Given the description of an element on the screen output the (x, y) to click on. 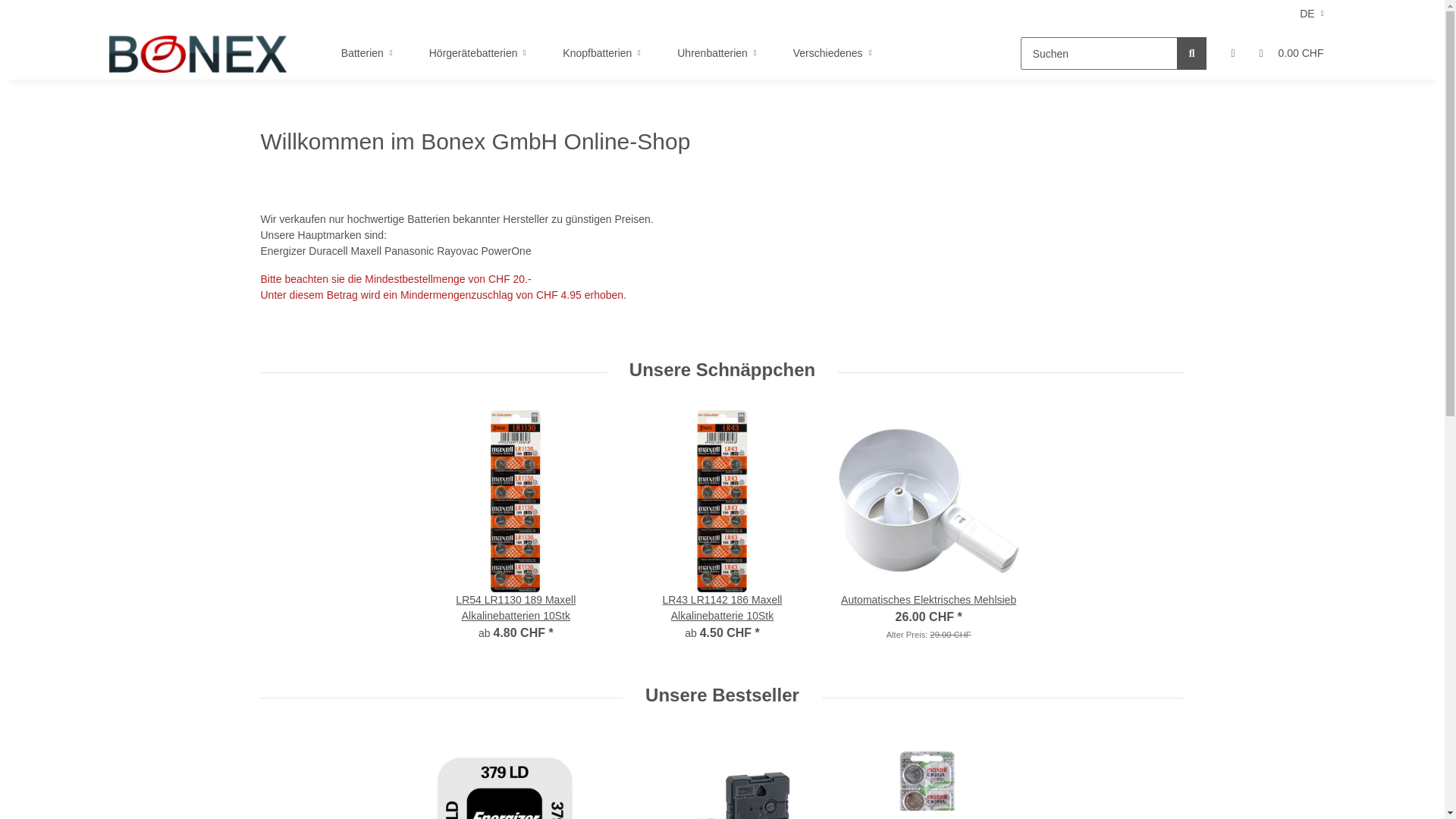
Knopfbatterien Element type: text (601, 53)
0.00 CHF Element type: text (1291, 53)
Batterien Element type: text (367, 53)
Unsere Bestseller Element type: text (722, 697)
Automatisches Elektrisches Mehlsieb Element type: text (928, 600)
LR54 LR1130 189 Maxell Alkalinebatterien 10Stk Element type: text (515, 608)
LR43 LR1142 186 Maxell Alkalinebatterie 10Stk Element type: text (721, 608)
Verschiedenes Element type: text (832, 53)
Uhrenbatterien Element type: text (716, 53)
Bonex GmbH Element type: hover (197, 53)
DE Element type: text (1311, 14)
